Given the description of an element on the screen output the (x, y) to click on. 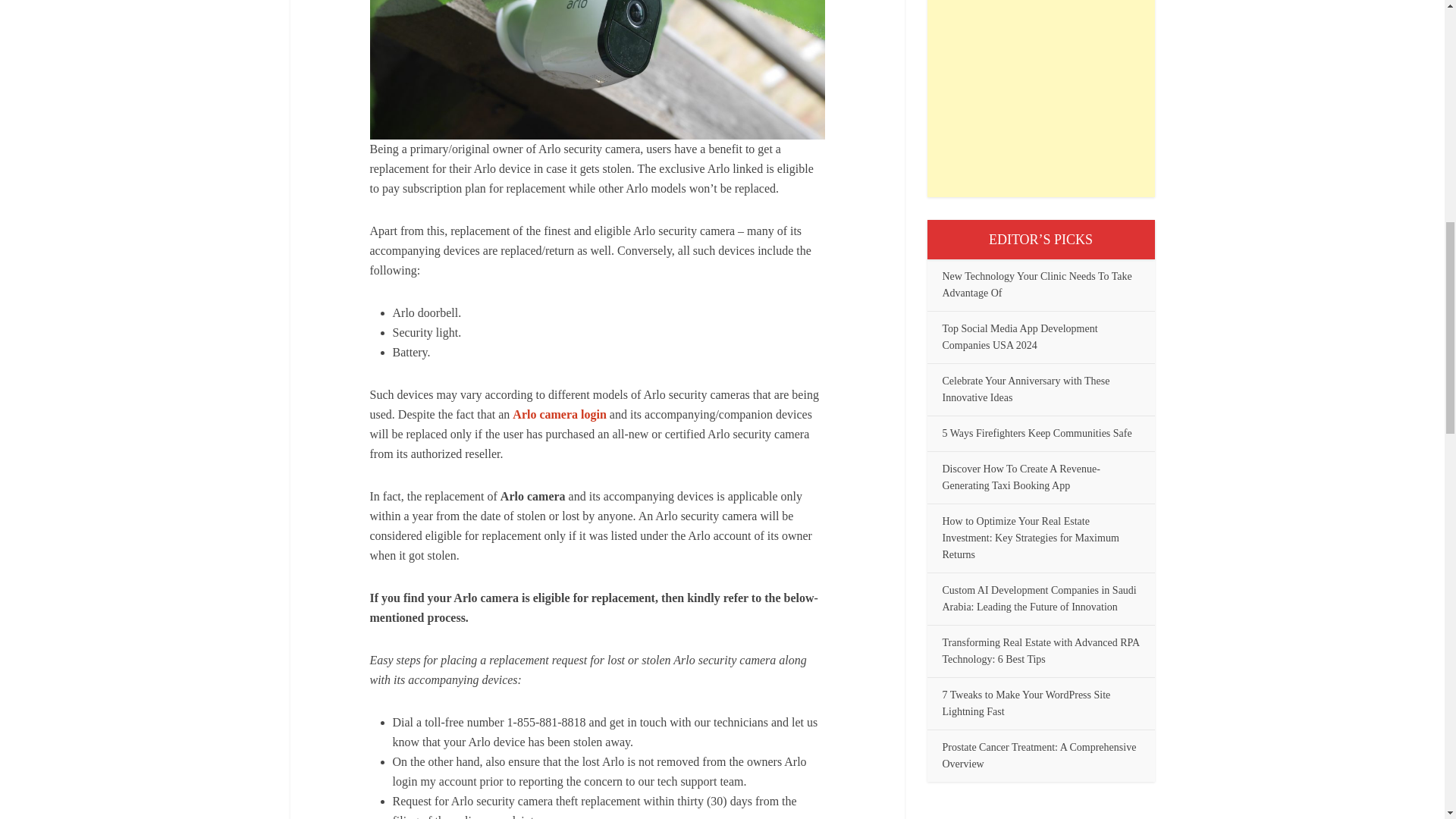
Top Social Media App Development Companies USA 2024 (1019, 336)
Celebrate Your Anniversary with These Innovative Ideas (1025, 389)
Arlo camera login (559, 413)
Advertisement (1040, 98)
New Technology Your Clinic Needs To Take Advantage Of (1036, 284)
